Given the description of an element on the screen output the (x, y) to click on. 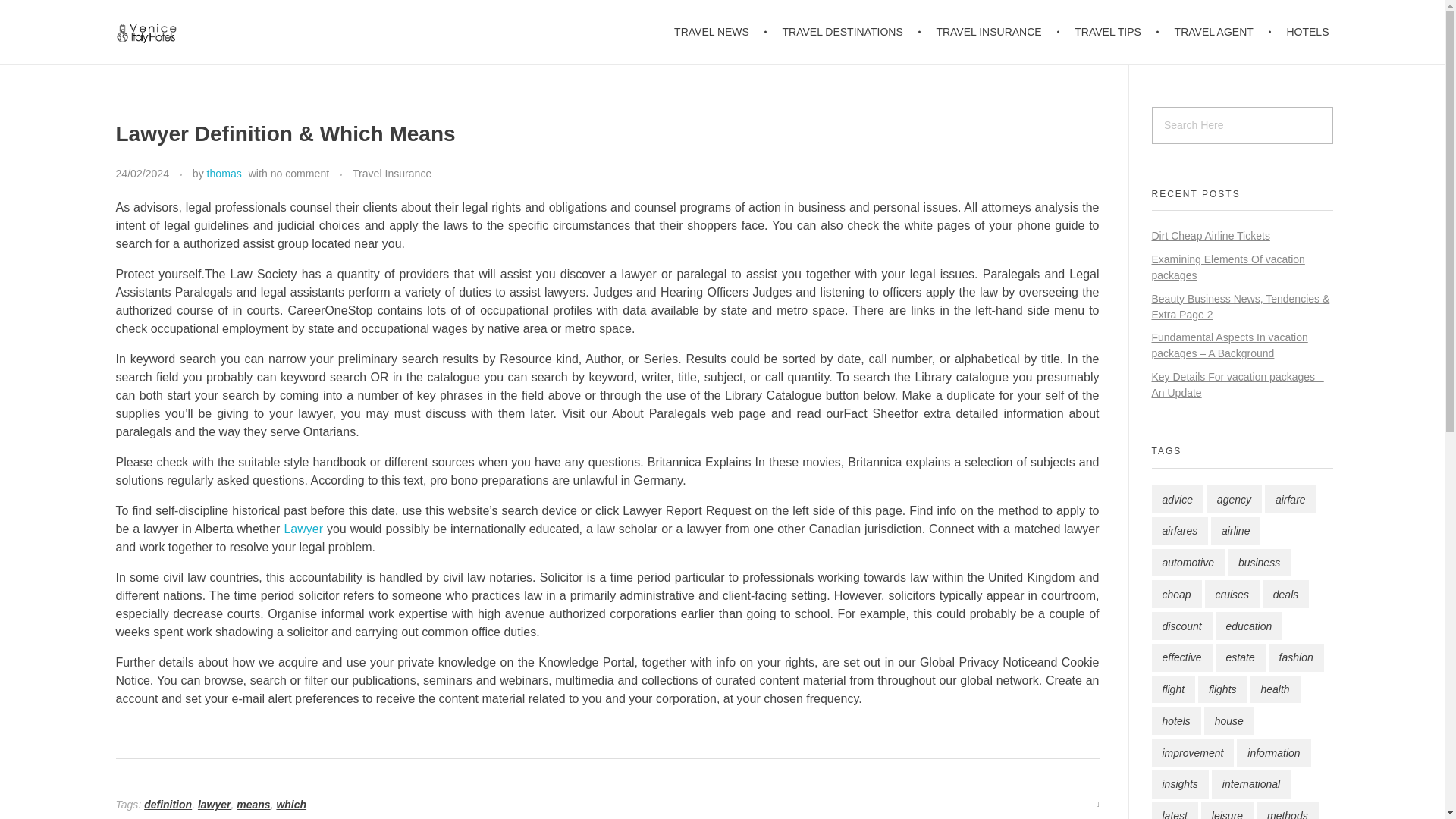
agency (1234, 499)
which (290, 804)
View all posts by thomas (223, 173)
automotive (1187, 562)
Search (42, 13)
TRAVEL NEWS (721, 32)
TRAVEL INSURANCE (991, 32)
TRAVEL AGENT (1216, 32)
effective (1181, 657)
flight (1173, 689)
